Given the description of an element on the screen output the (x, y) to click on. 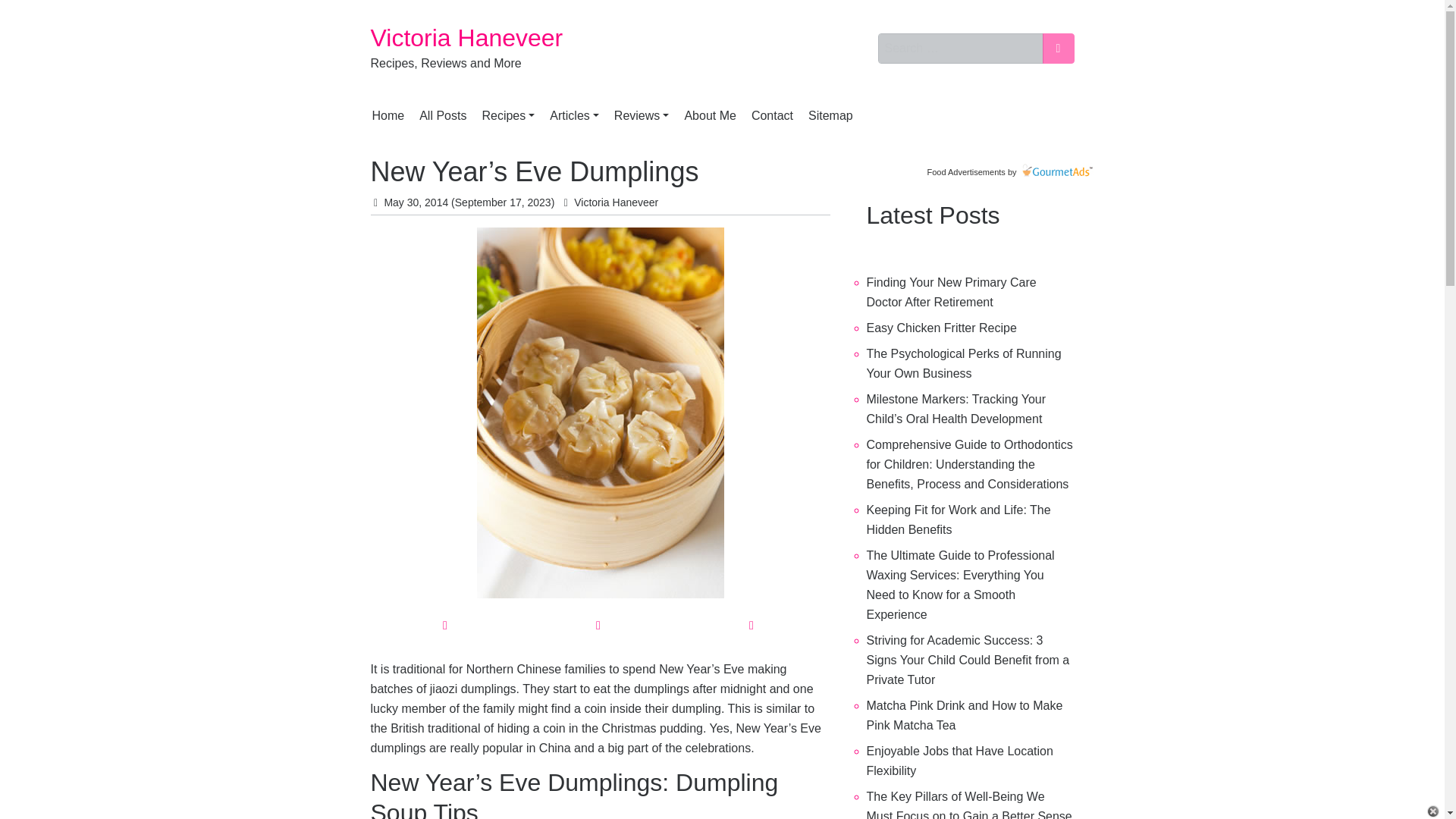
Contact (772, 115)
Recipes (507, 115)
Home (388, 115)
Victoria Haneveer (465, 37)
Victoria Haneveer (465, 37)
All Posts (443, 115)
Reviews (642, 115)
Articles (574, 115)
All Posts (443, 115)
About Me (709, 115)
Sitemap (830, 115)
Home (388, 115)
Recipes (507, 115)
Skip to content (367, 39)
